Given the description of an element on the screen output the (x, y) to click on. 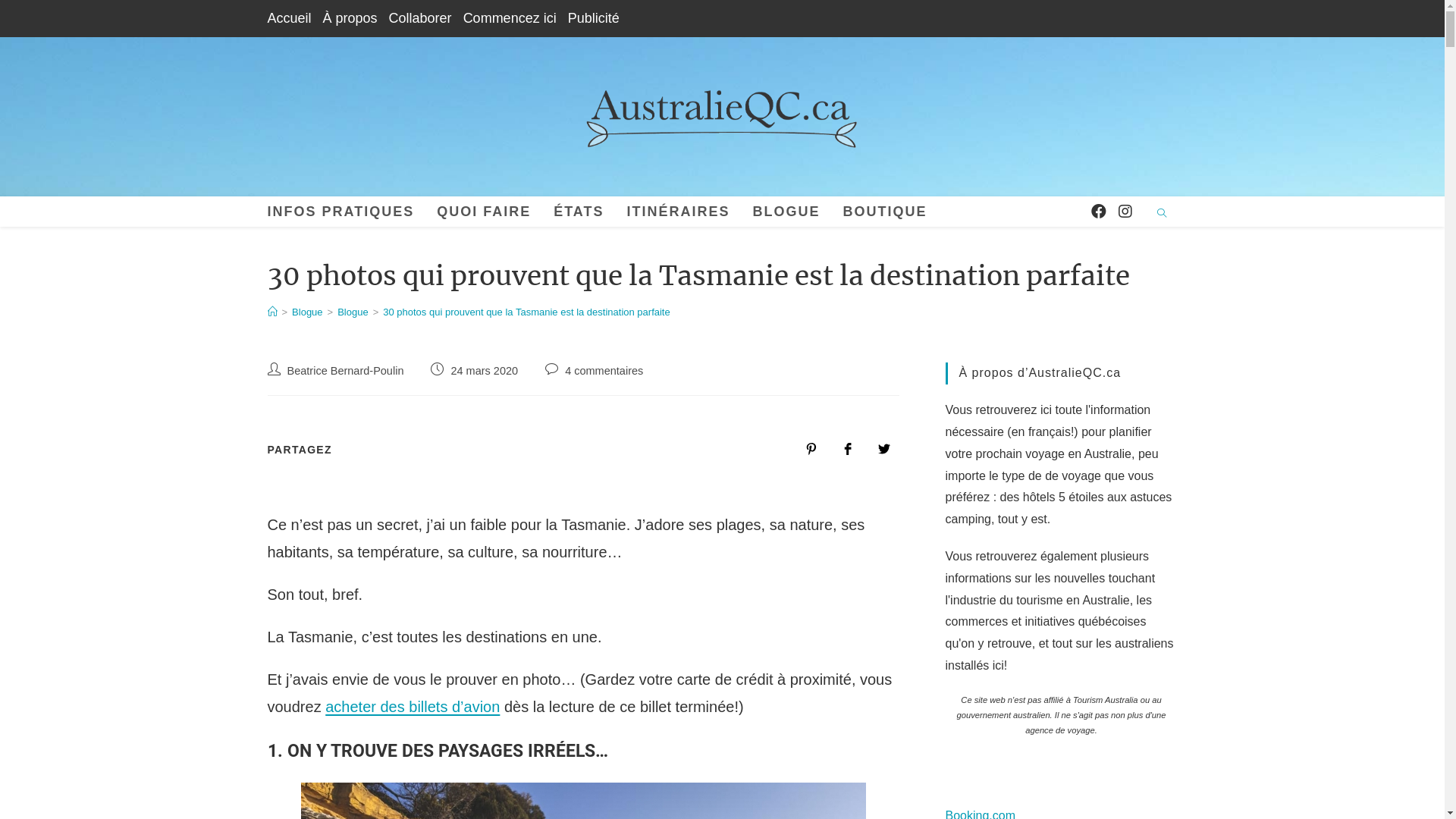
Beatrice Bernard-Poulin Element type: text (344, 370)
Accueil Element type: text (288, 18)
Blogue Element type: text (306, 311)
QUOI FAIRE Element type: text (483, 211)
Commencez ici Element type: text (509, 18)
4 commentaires Element type: text (603, 370)
Blogue Element type: text (352, 311)
BOUTIQUE Element type: text (884, 211)
BLOGUE Element type: text (786, 211)
INFOS PRATIQUES Element type: text (341, 211)
Collaborer Element type: text (420, 18)
